Given the description of an element on the screen output the (x, y) to click on. 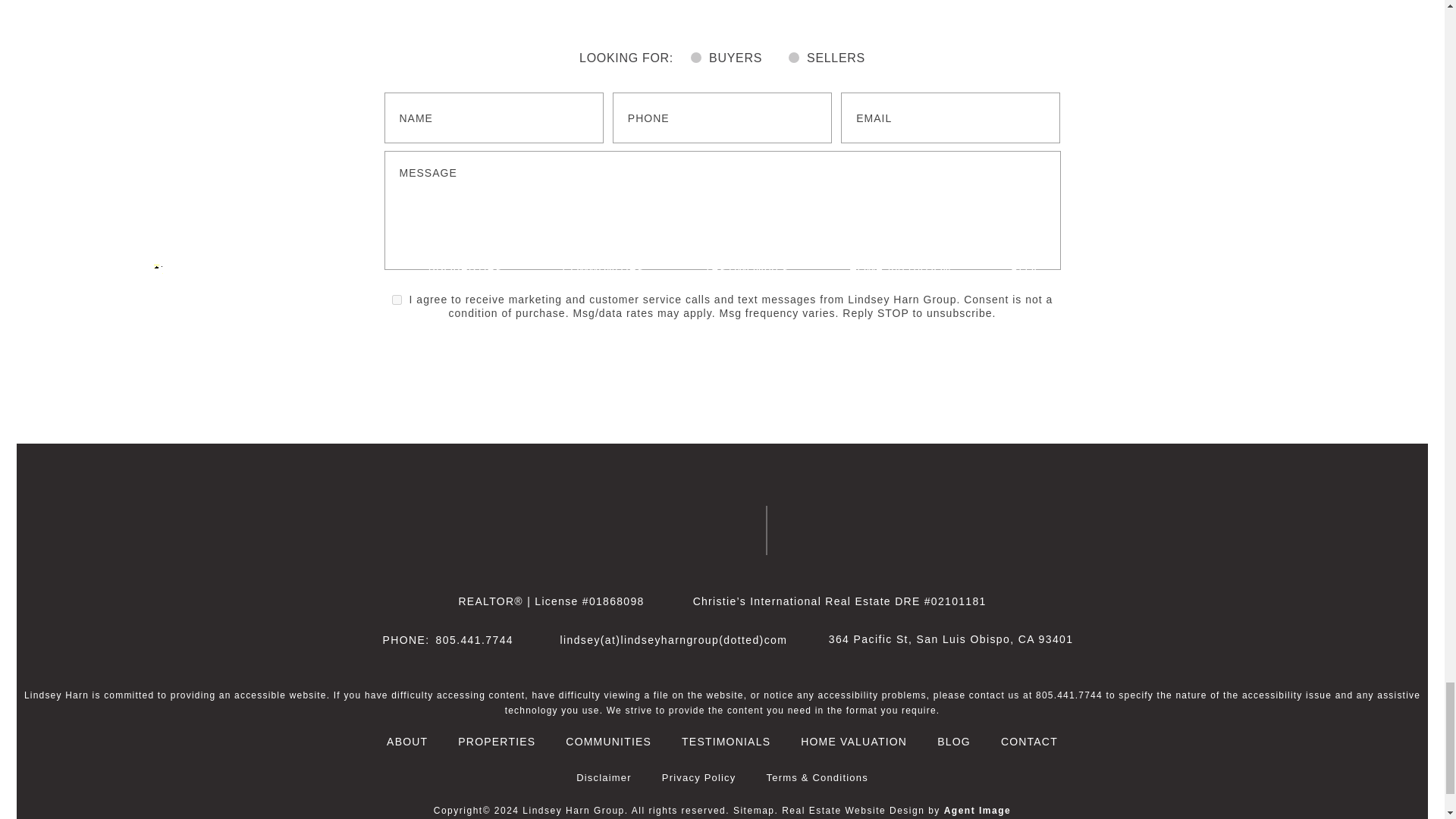
Submit (1029, 236)
